Given the description of an element on the screen output the (x, y) to click on. 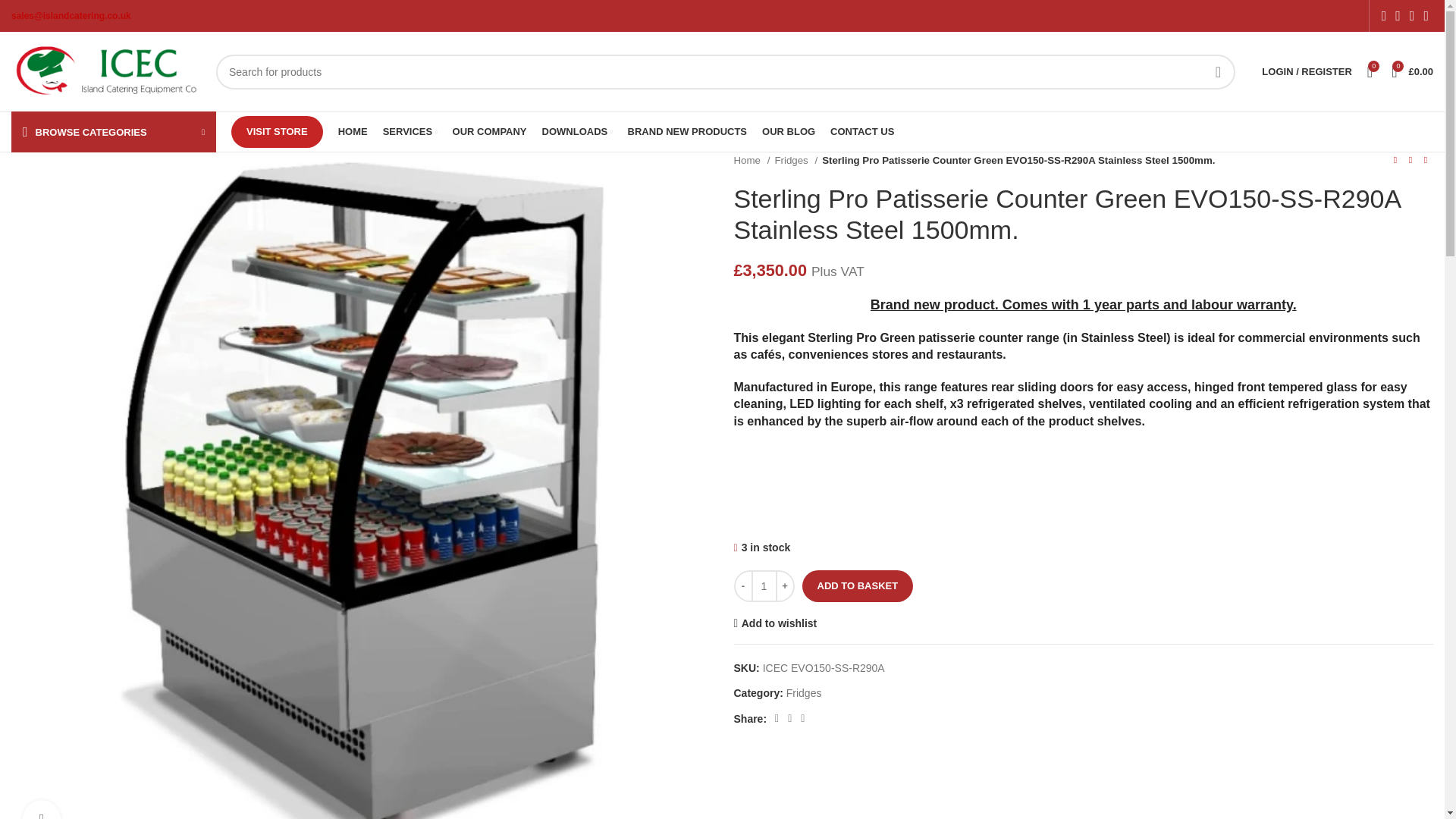
Shopping cart (1412, 71)
SEARCH (1216, 71)
My account (1305, 71)
Search for products (724, 71)
